Given the description of an element on the screen output the (x, y) to click on. 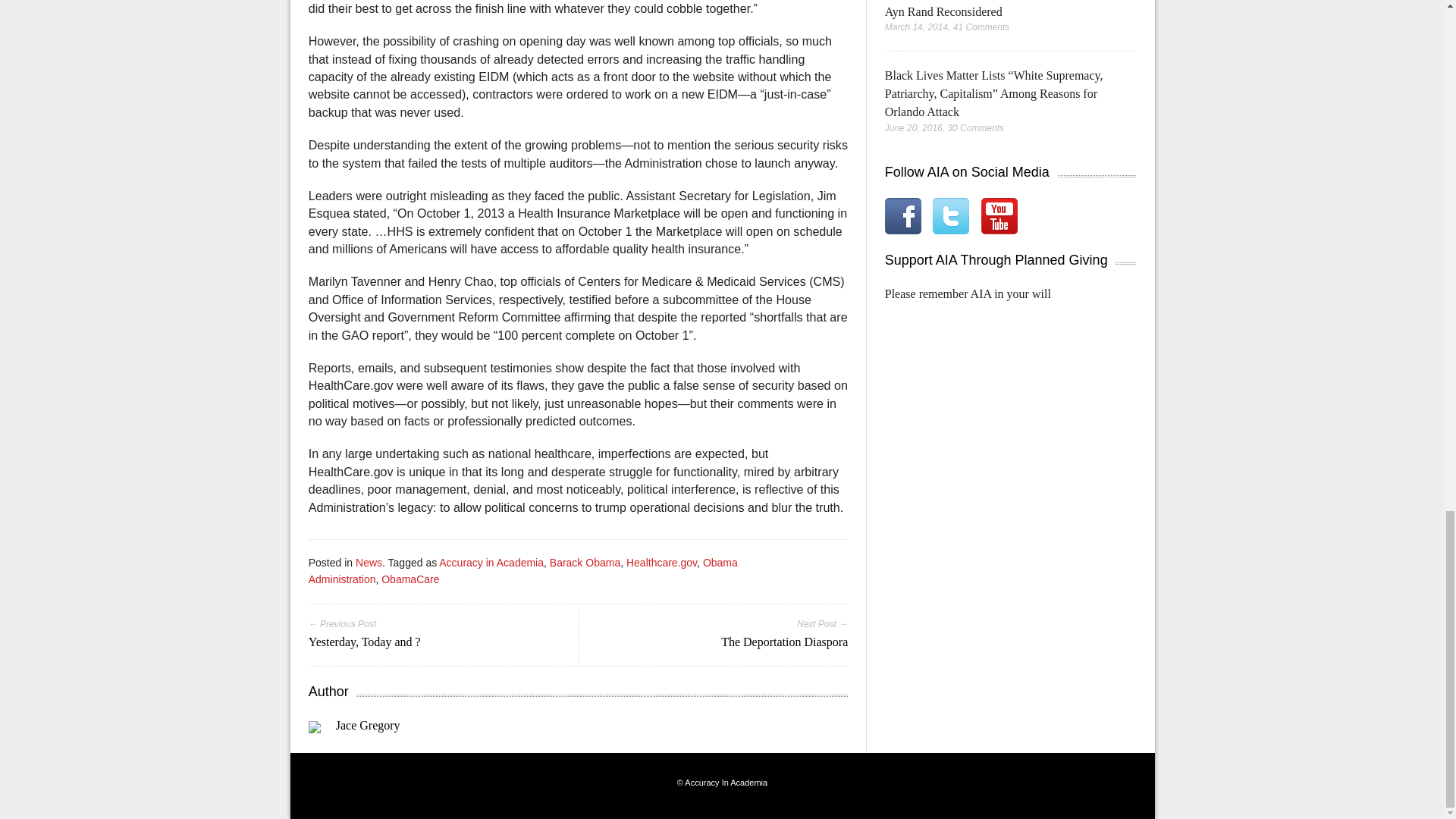
Healthcare.gov (661, 562)
Accuracy in Academia (491, 562)
News (368, 562)
Jace Gregory (368, 725)
Posts by Jace Gregory (368, 725)
Barack Obama (585, 562)
Obama Administration (523, 570)
ObamaCare (410, 579)
Ayn Rand Reconsidered (944, 11)
